Given the description of an element on the screen output the (x, y) to click on. 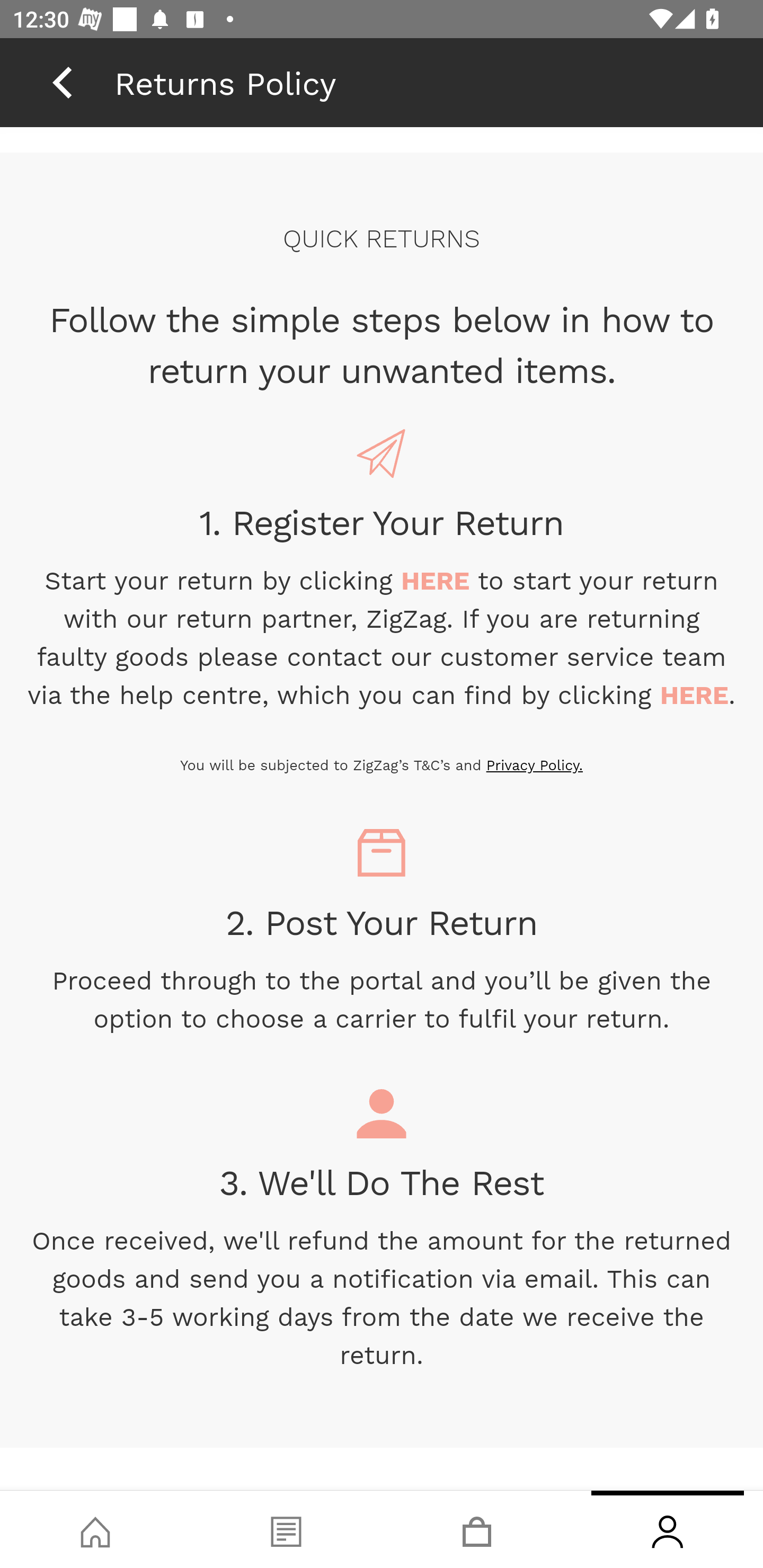
back (61, 82)
HERE (435, 580)
HERE (694, 695)
Privacy Policy. (533, 764)
Shop, tab, 1 of 4 (95, 1529)
Blog, tab, 2 of 4 (285, 1529)
Basket, tab, 3 of 4 (476, 1529)
Account, tab, 4 of 4 (667, 1529)
